Given the description of an element on the screen output the (x, y) to click on. 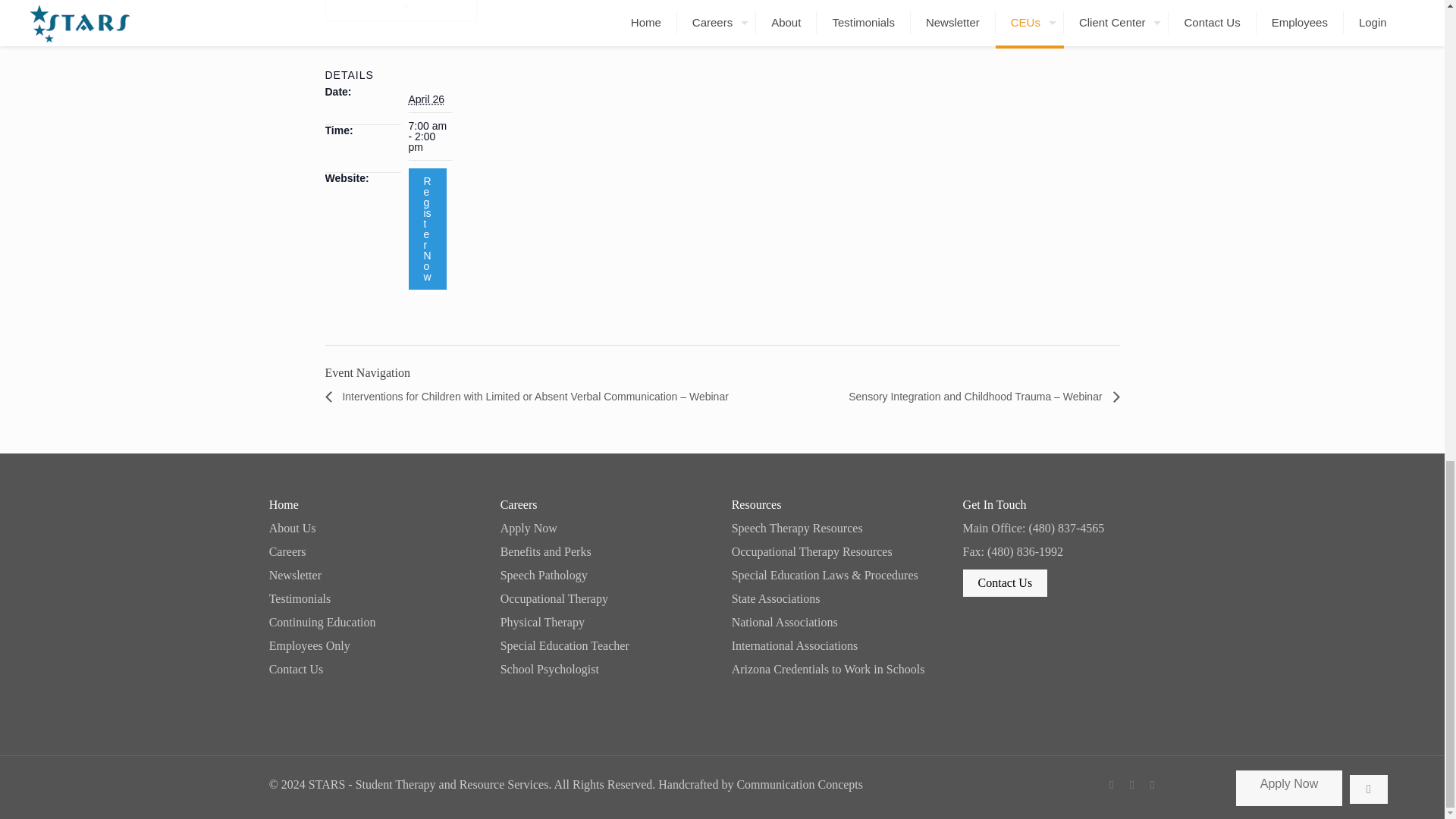
Testimonials (375, 598)
Contact Us (375, 669)
Facebook (1111, 784)
Twitter (1132, 784)
Employees Only (375, 645)
Newsletter (375, 575)
Continuing Education (375, 622)
Home (375, 504)
YouTube (1152, 784)
Register Now (426, 228)
About Us (375, 528)
2024-04-26 (429, 136)
Careers (375, 551)
2024-04-26 (425, 99)
